Given the description of an element on the screen output the (x, y) to click on. 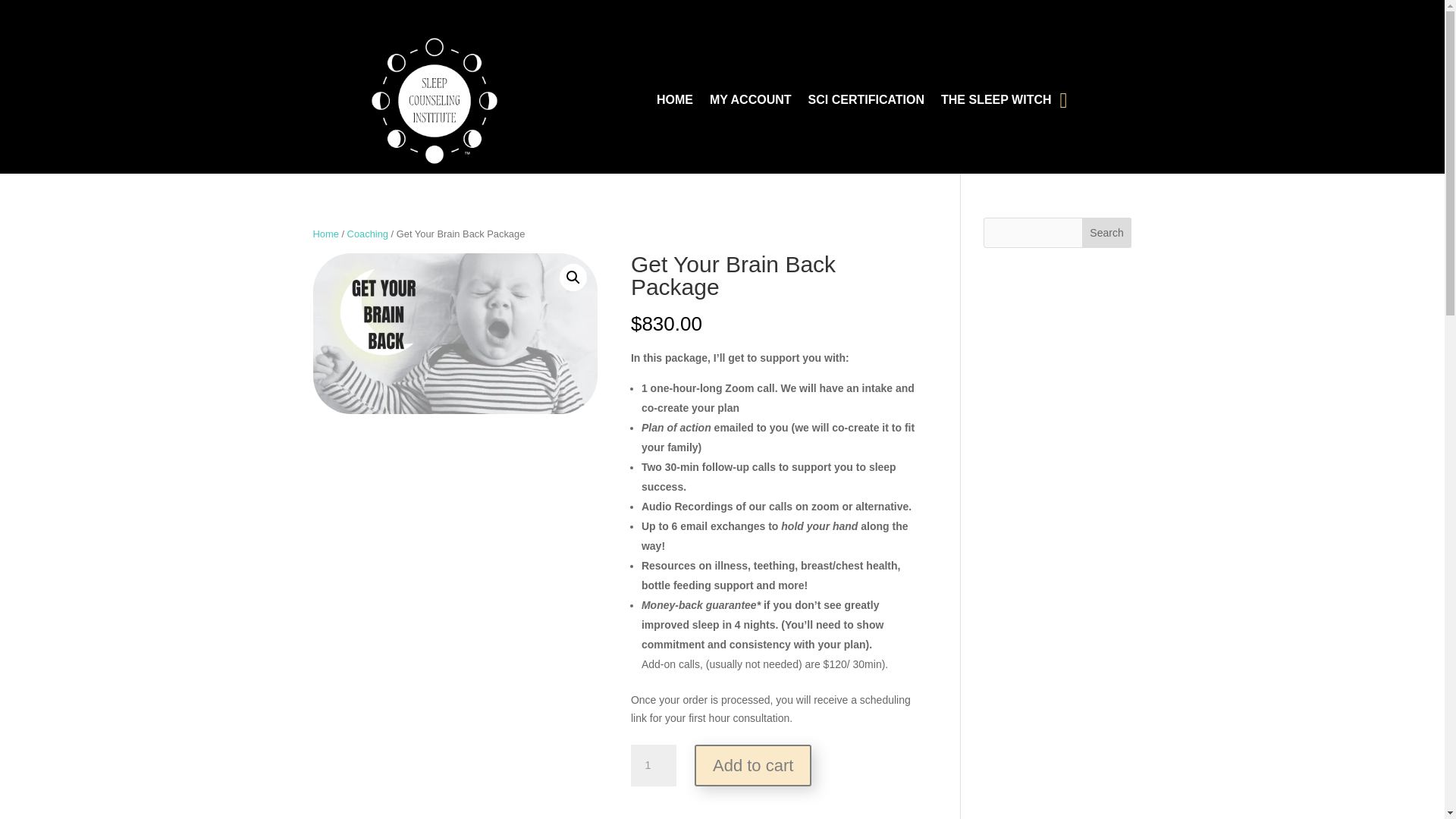
Add to cart (752, 765)
SCI CERTIFICATION (866, 104)
Coaching (367, 233)
PayPal (772, 802)
THE SLEEP WITCH (995, 104)
MY ACCOUNT (751, 104)
Search (1106, 232)
HOME (674, 104)
Home (325, 233)
Brain Back (454, 333)
1 (653, 765)
